Given the description of an element on the screen output the (x, y) to click on. 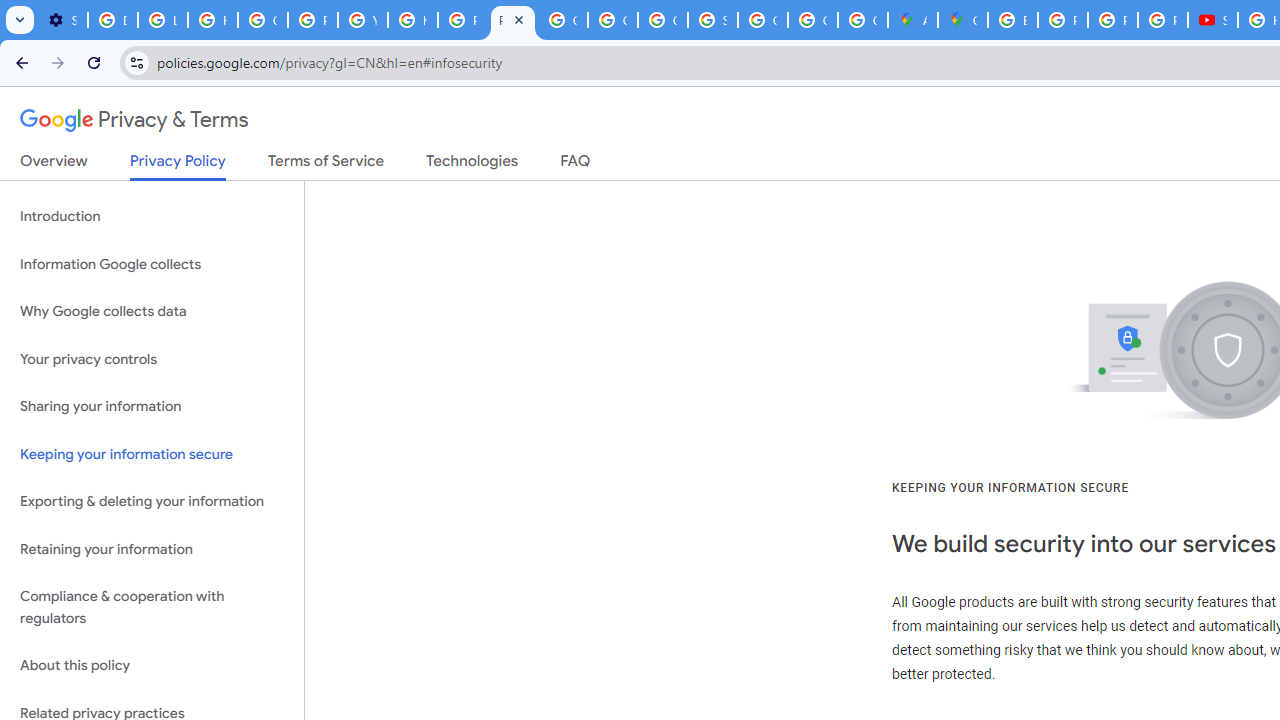
Privacy Help Center - Policies Help (1112, 20)
Sharing your information (152, 407)
Delete photos & videos - Computer - Google Photos Help (113, 20)
Learn how to find your photos - Google Photos Help (163, 20)
Why Google collects data (152, 312)
Google Account Help (262, 20)
About this policy (152, 666)
https://scholar.google.com/ (412, 20)
Retaining your information (152, 548)
Your privacy controls (152, 358)
Google Maps (963, 20)
Blogger Policies and Guidelines - Transparency Center (1013, 20)
